Given the description of an element on the screen output the (x, y) to click on. 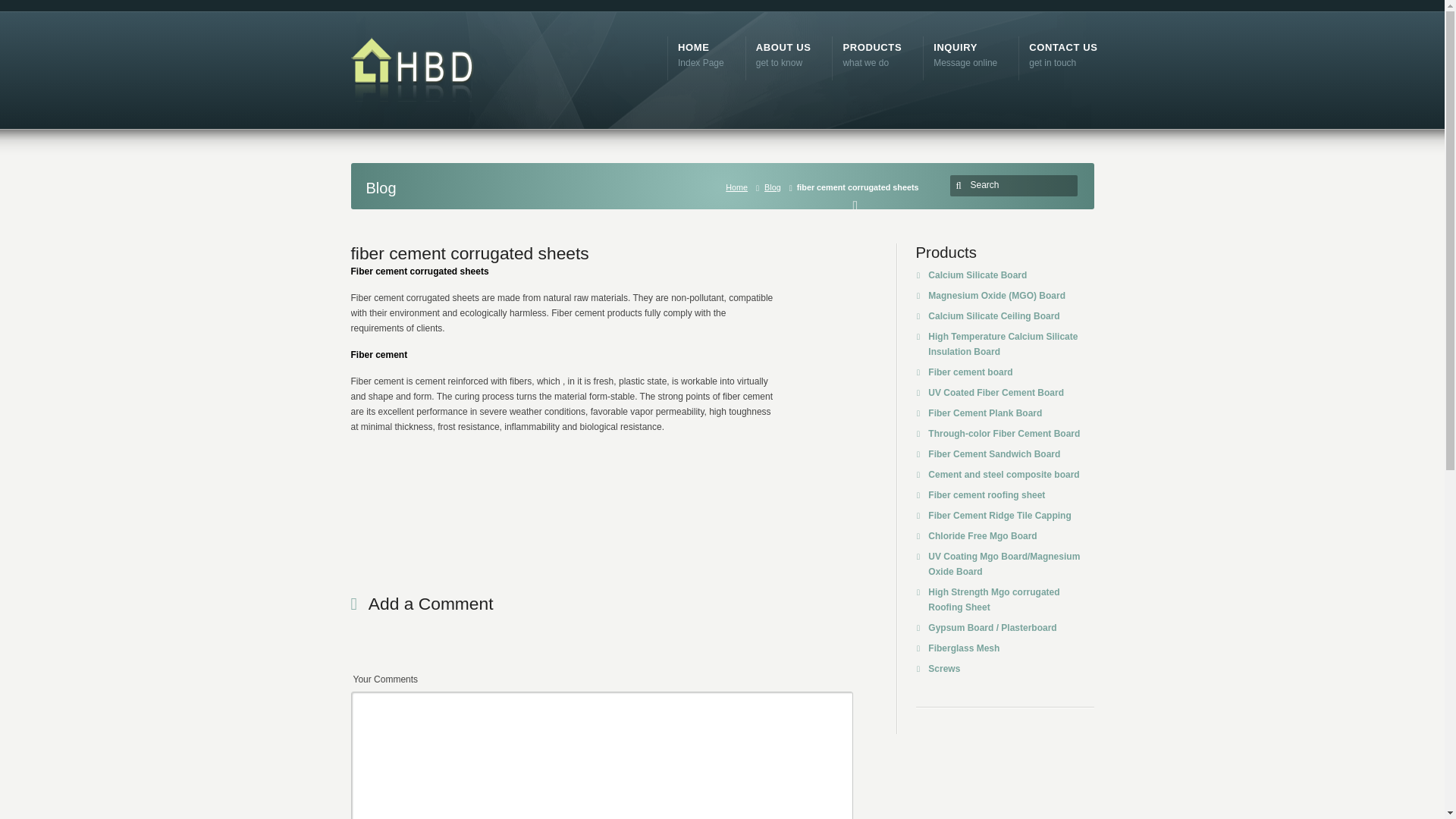
High Temperature Calcium Silicate Insulation Board (1002, 344)
Blog (775, 186)
Calcium Silicate Board (977, 275)
Home (739, 186)
Fiber cement board (782, 53)
Calcium Silicate Ceiling Board (969, 371)
Search (965, 53)
